Given the description of an element on the screen output the (x, y) to click on. 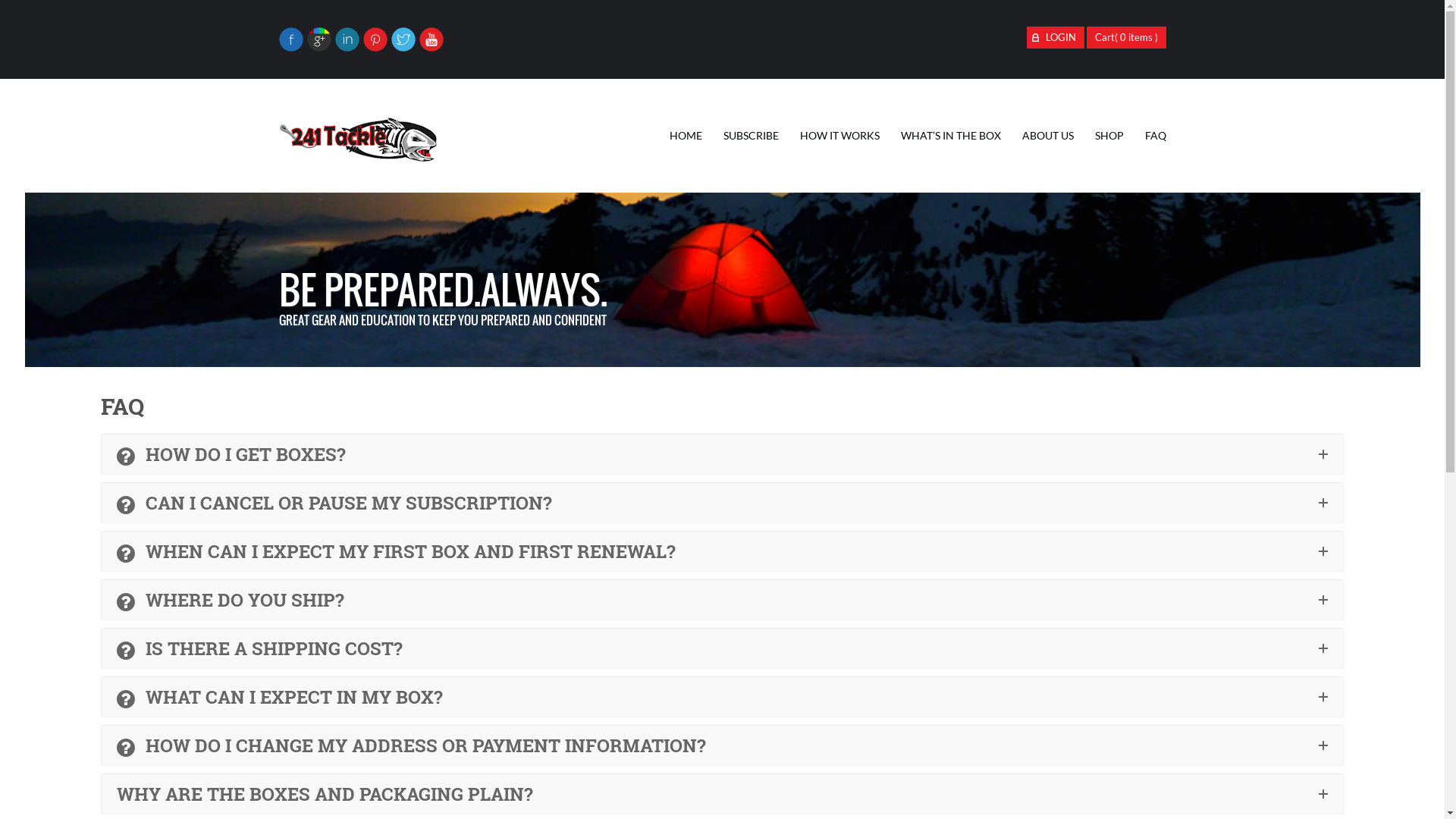
HOW DO I GET BOXES? Element type: text (721, 453)
FAQ Element type: text (1155, 135)
HOW IT WORKS Element type: text (838, 135)
WHEN CAN I EXPECT MY FIRST BOX AND FIRST RENEWAL? Element type: text (721, 551)
ABOUT US Element type: text (1047, 135)
WHERE DO YOU SHIP? Element type: text (721, 599)
IS THERE A SHIPPING COST? Element type: text (721, 648)
LOGIN Element type: text (1055, 37)
CAN I CANCEL OR PAUSE MY SUBSCRIPTION? Element type: text (721, 502)
WHY ARE THE BOXES AND PACKAGING PLAIN? Element type: text (721, 793)
HOW DO I CHANGE MY ADDRESS OR PAYMENT INFORMATION? Element type: text (721, 745)
WHAT CAN I EXPECT IN MY BOX? Element type: text (721, 696)
Cart( 0 items ) Element type: text (1125, 37)
SHOP Element type: text (1109, 135)
HOME Element type: text (684, 135)
SUBSCRIBE Element type: text (750, 135)
